Given the description of an element on the screen output the (x, y) to click on. 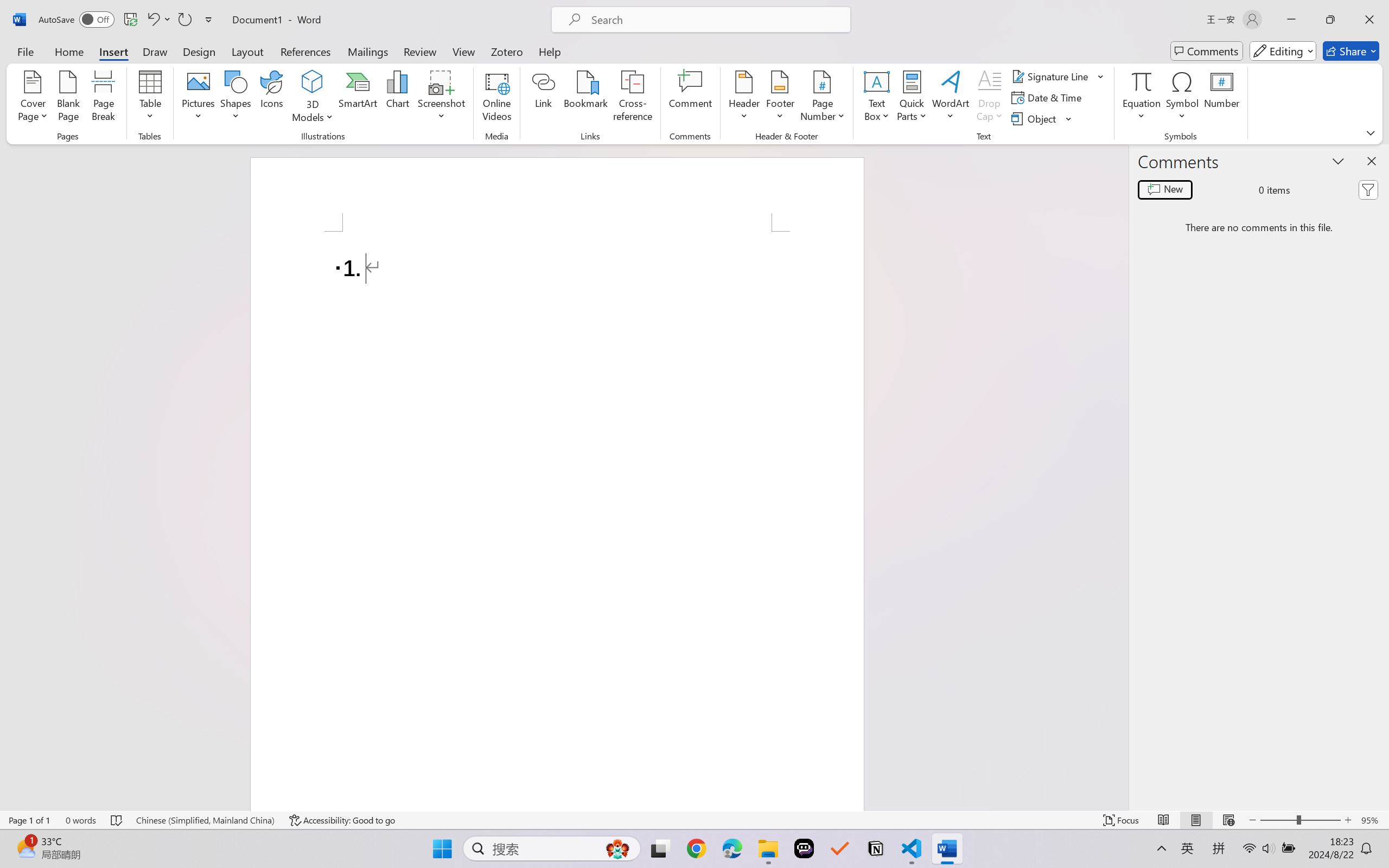
Icons (271, 97)
Bookmark... (585, 97)
Zoom 95% (1372, 819)
3D Models (312, 97)
SmartArt... (358, 97)
Pictures (198, 97)
Blank Page (67, 97)
New comment (1165, 189)
